Given the description of an element on the screen output the (x, y) to click on. 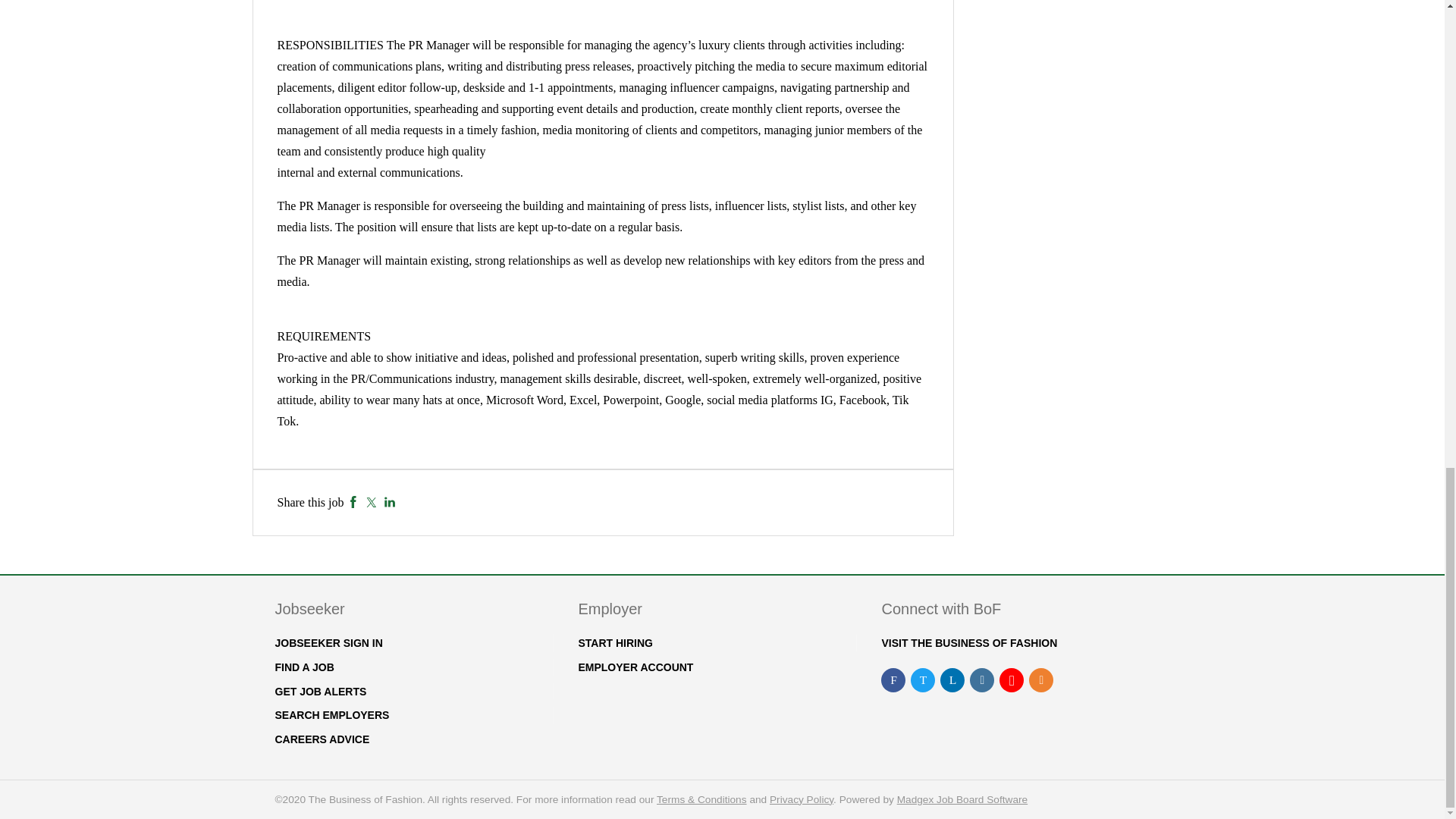
LinkedIn (390, 502)
FIND A JOB (304, 666)
JOBSEEKER SIGN IN (328, 643)
Twitter (371, 502)
SEARCH EMPLOYERS (331, 715)
GET JOB ALERTS (320, 691)
CAREERS ADVICE (322, 739)
Facebook (353, 502)
